Given the description of an element on the screen output the (x, y) to click on. 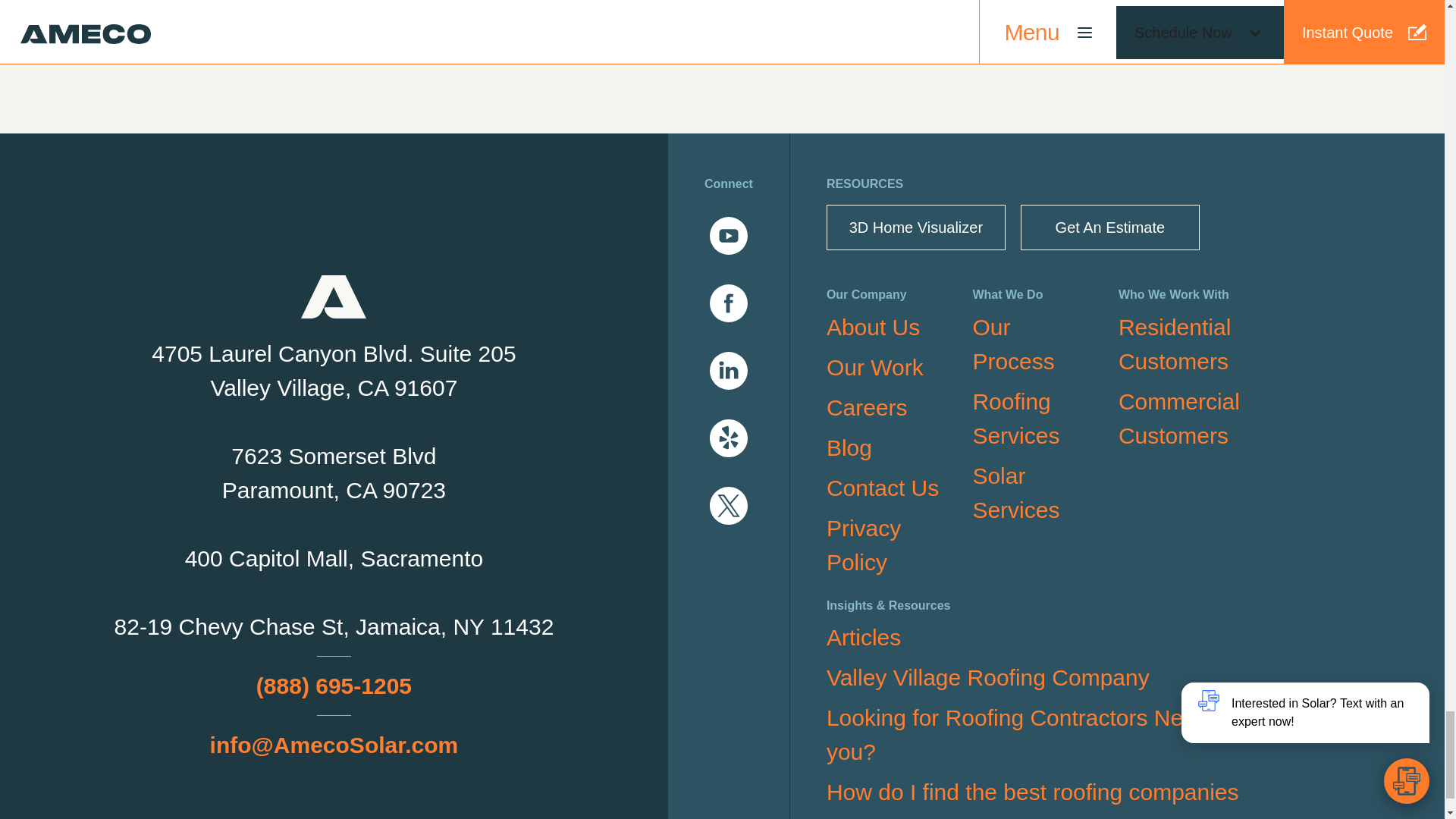
3D Home Visualizer (916, 227)
Get An Estimate (1109, 227)
